Given the description of an element on the screen output the (x, y) to click on. 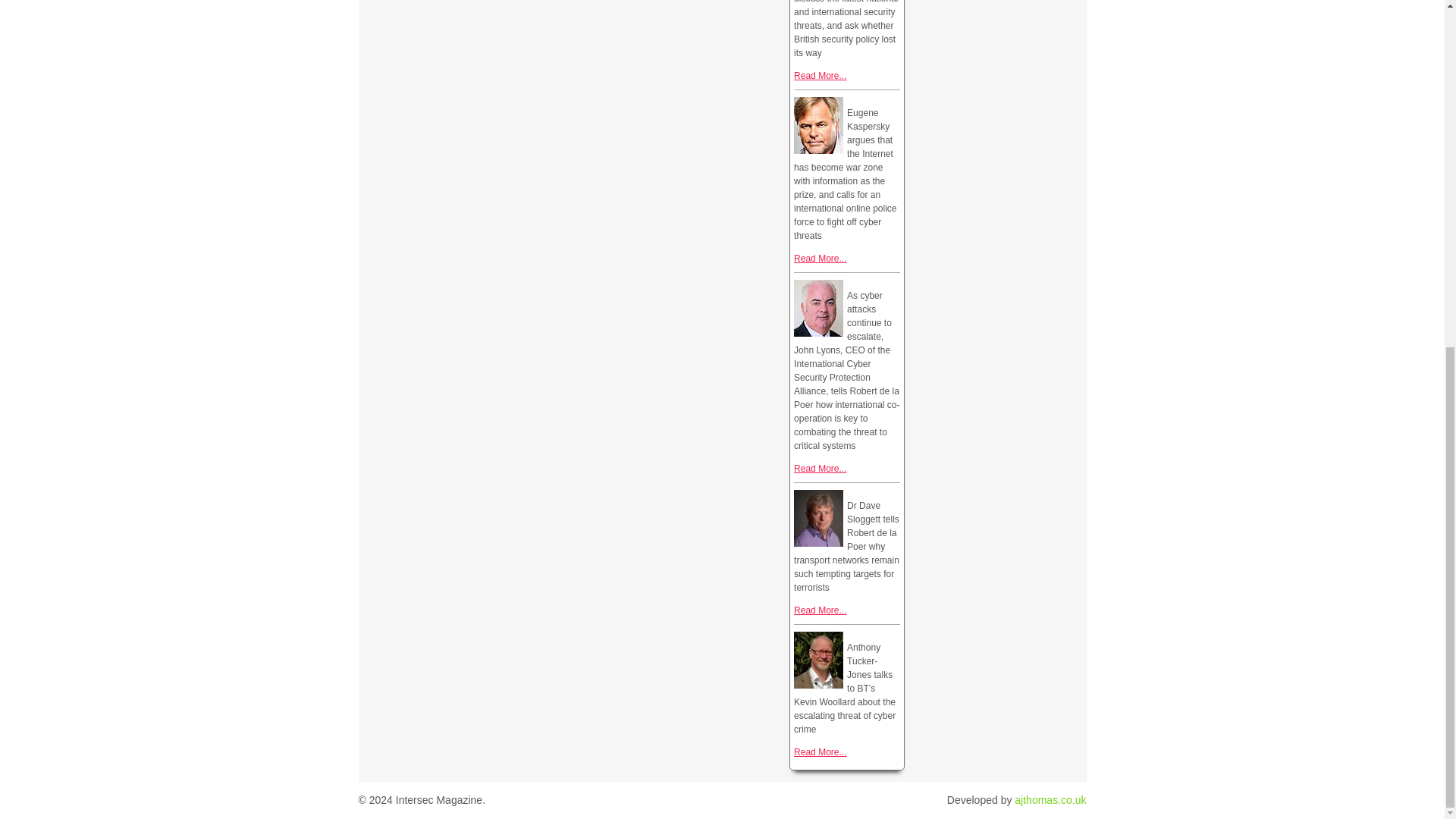
Read More... (819, 468)
Read More... (819, 258)
Read More... (819, 610)
Read More... (819, 751)
Read More... (819, 75)
